Given the description of an element on the screen output the (x, y) to click on. 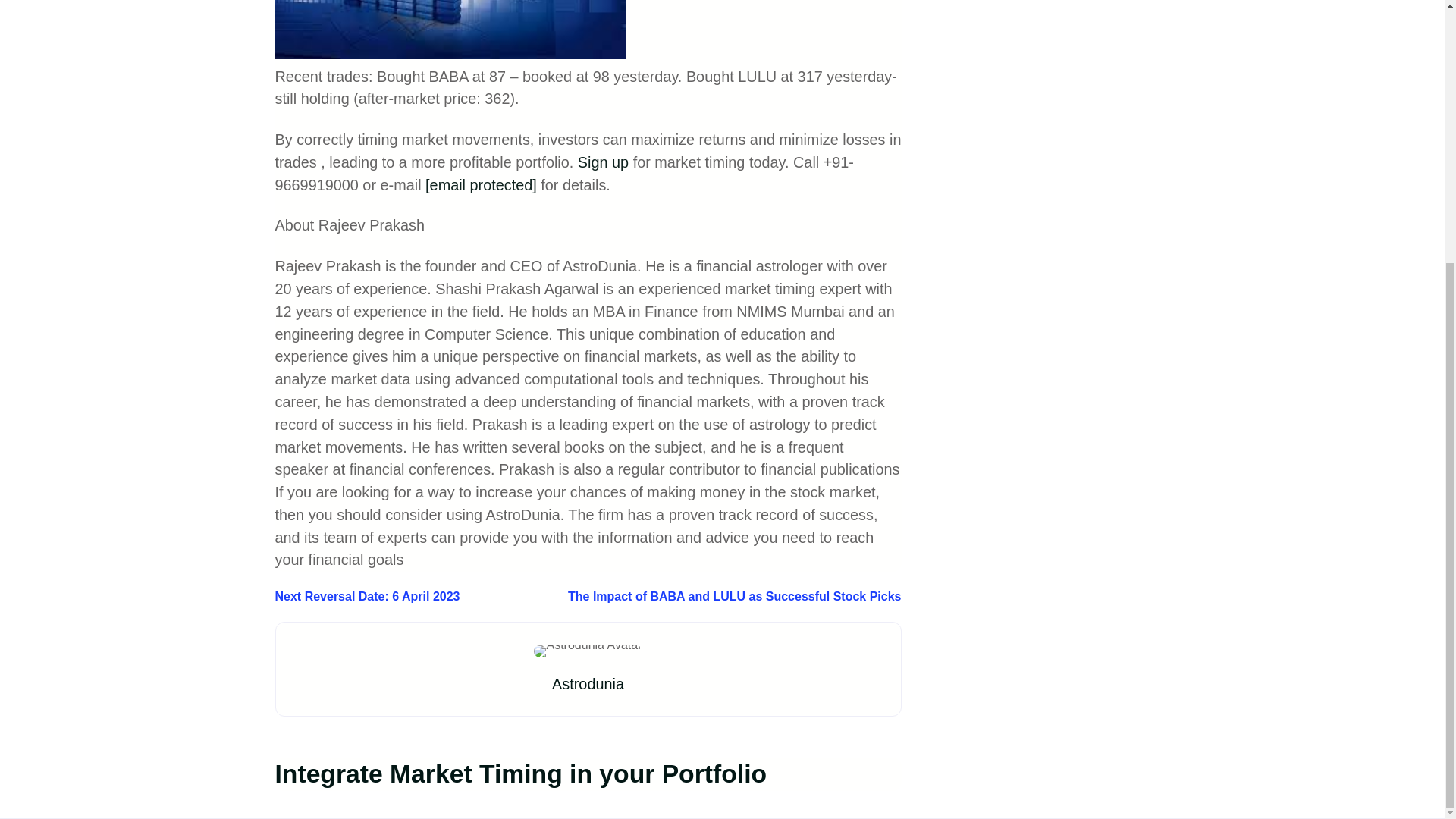
Next Reversal Date: 6 April 2023 (367, 595)
Sign up (603, 161)
The Impact of BABA and LULU as Successful Stock Picks (734, 595)
